Given the description of an element on the screen output the (x, y) to click on. 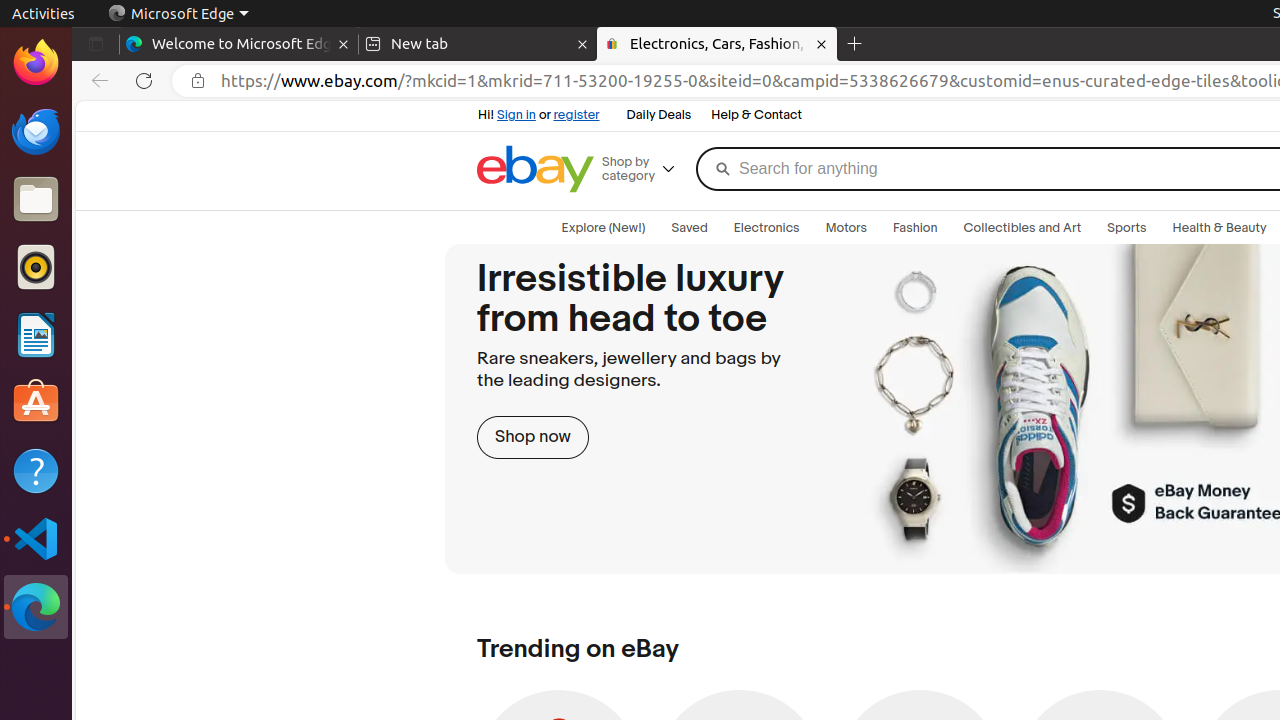
New Tab Element type: push-button (855, 44)
Health & Beauty Element type: link (1219, 228)
Thunderbird Mail Element type: push-button (36, 131)
Motors Element type: link (846, 228)
New tab Element type: page-tab (478, 44)
